Given the description of an element on the screen output the (x, y) to click on. 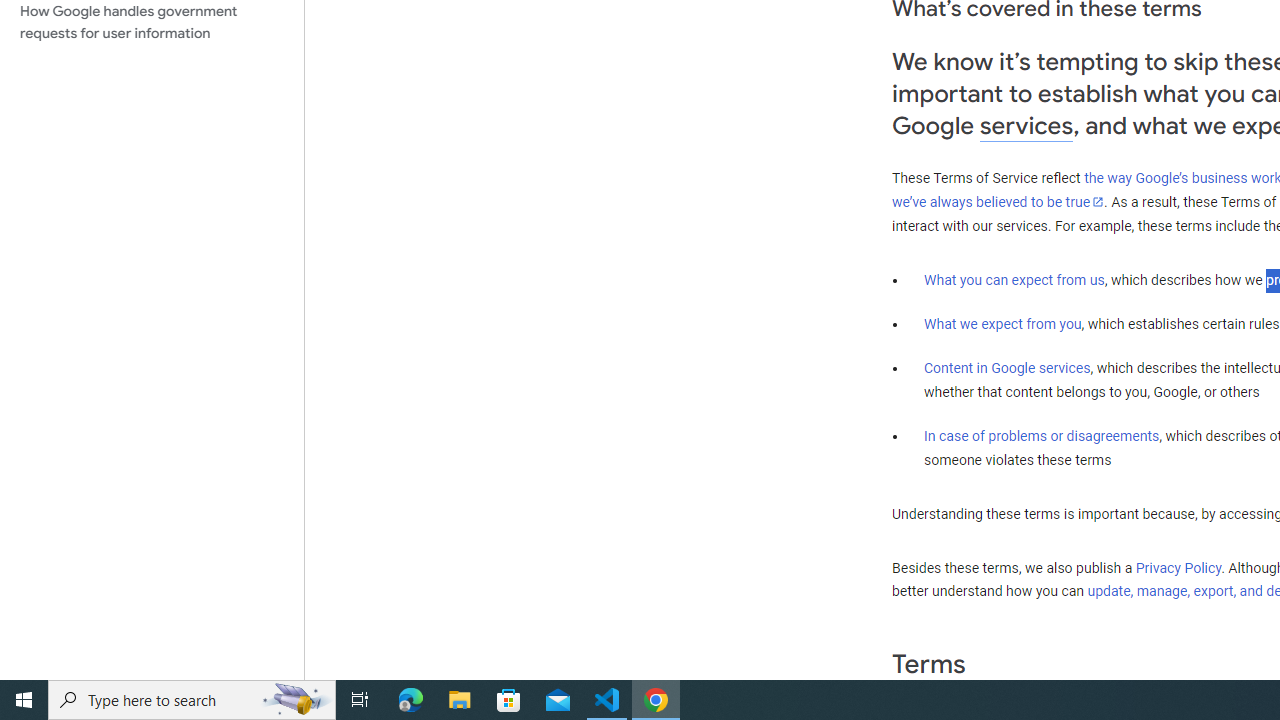
In case of problems or disagreements (1041, 435)
What you can expect from us (1014, 279)
services (1026, 125)
What we expect from you (1002, 323)
Content in Google services (1007, 368)
